Given the description of an element on the screen output the (x, y) to click on. 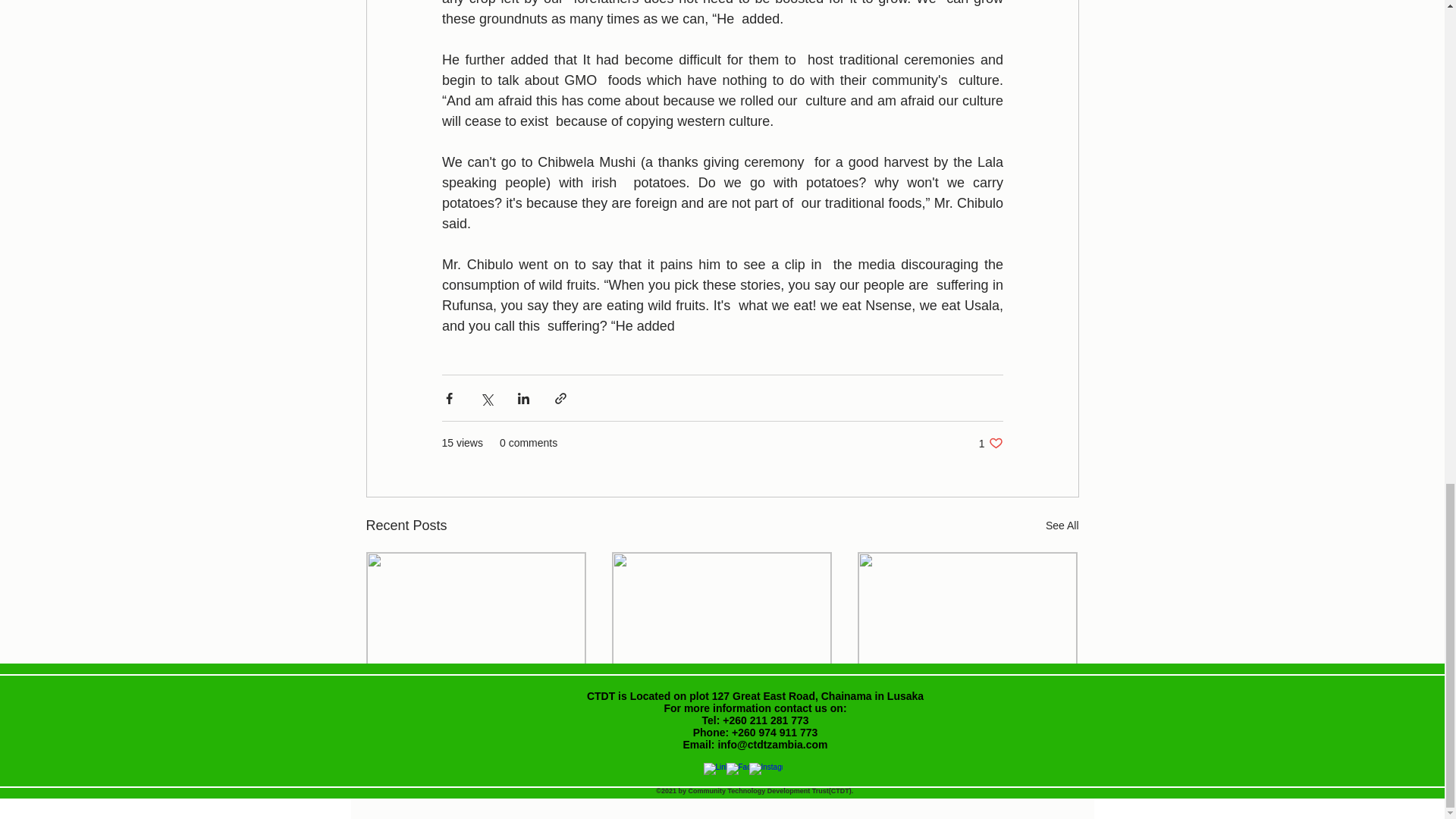
Post not marked as liked (558, 763)
Learning for change. (990, 442)
Post not marked as liked (476, 701)
Post not marked as liked (804, 763)
0 (1050, 763)
Mobilizing for local food plants to combat malnutrition. (681, 762)
Seeds of Resilience; Community Seed Banks (721, 709)
0 (967, 709)
0 (931, 762)
